Given the description of an element on the screen output the (x, y) to click on. 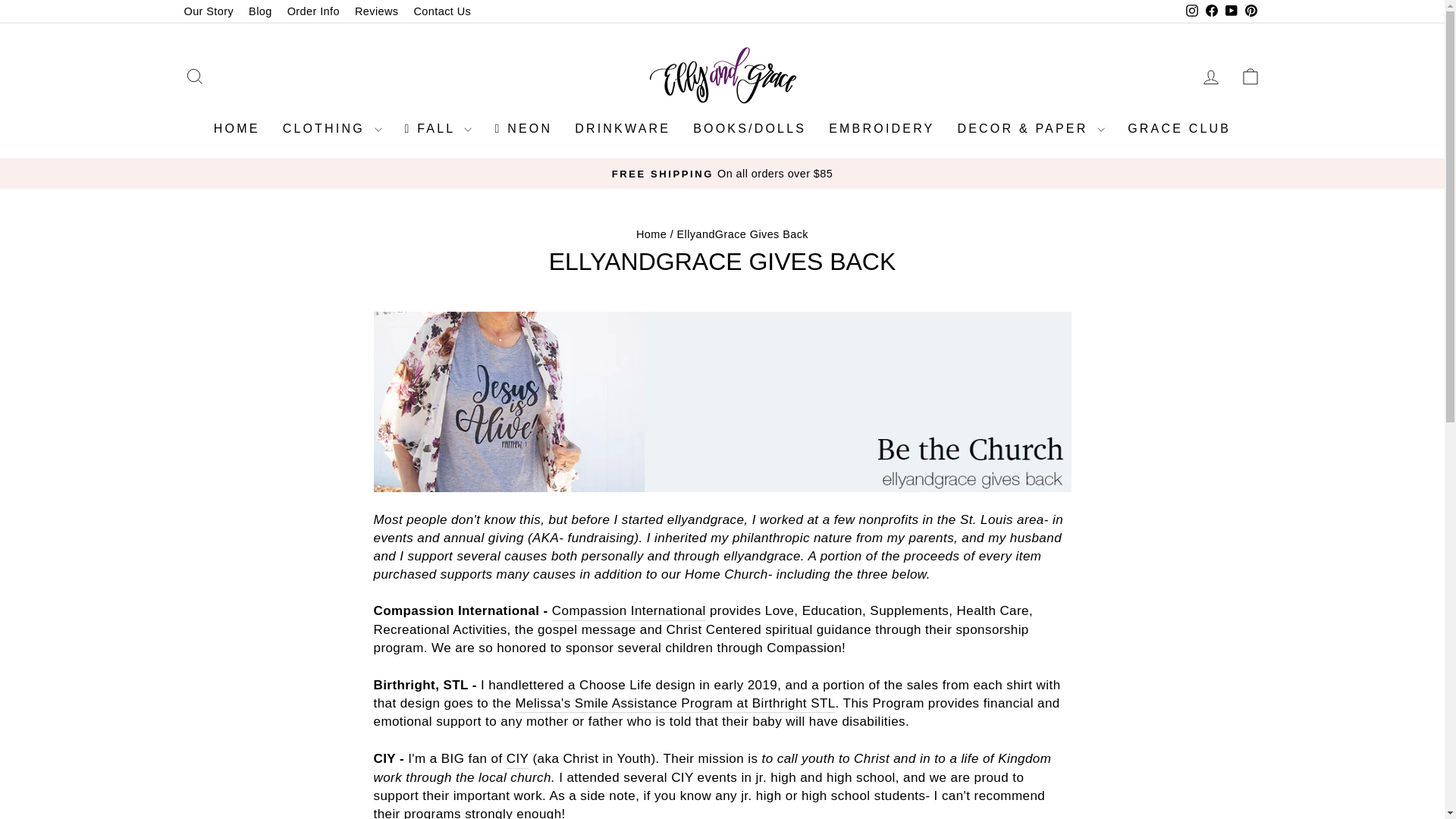
ICON-BAG-MINIMAL (1249, 76)
instagram (1192, 10)
ICON-SEARCH (194, 76)
ACCOUNT (1210, 76)
Back to the frontpage (651, 234)
